Given the description of an element on the screen output the (x, y) to click on. 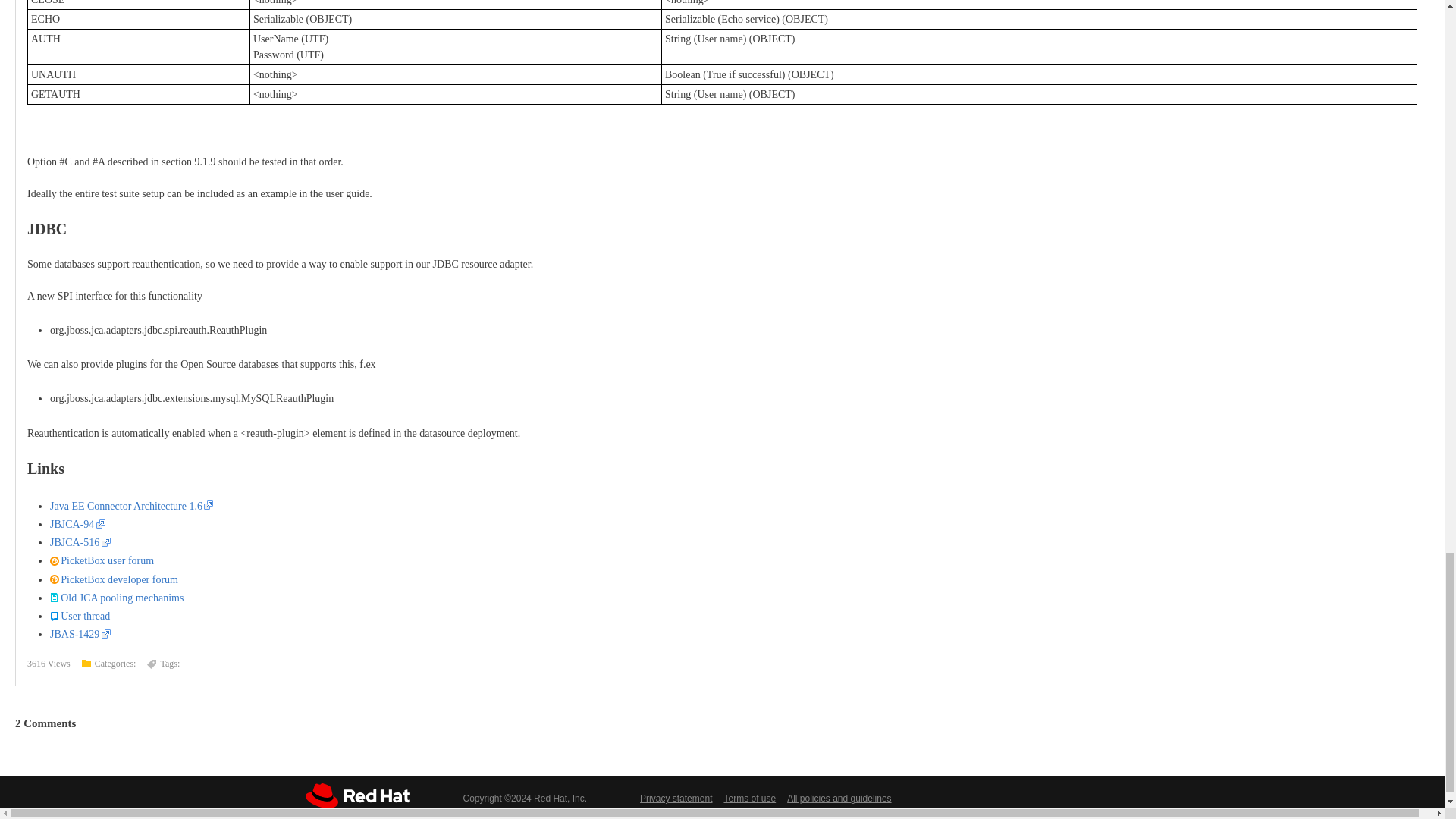
JBJCA-94 (76, 523)
Java EE Connector Architecture 1.6 (130, 505)
Red Hat (356, 795)
All policies and guidelines (839, 798)
PicketBox developer forum (113, 579)
Privacy statement (675, 798)
PicketBox user forum (101, 560)
Terms of use (749, 798)
User thread (79, 615)
2 Comments (44, 723)
